Given the description of an element on the screen output the (x, y) to click on. 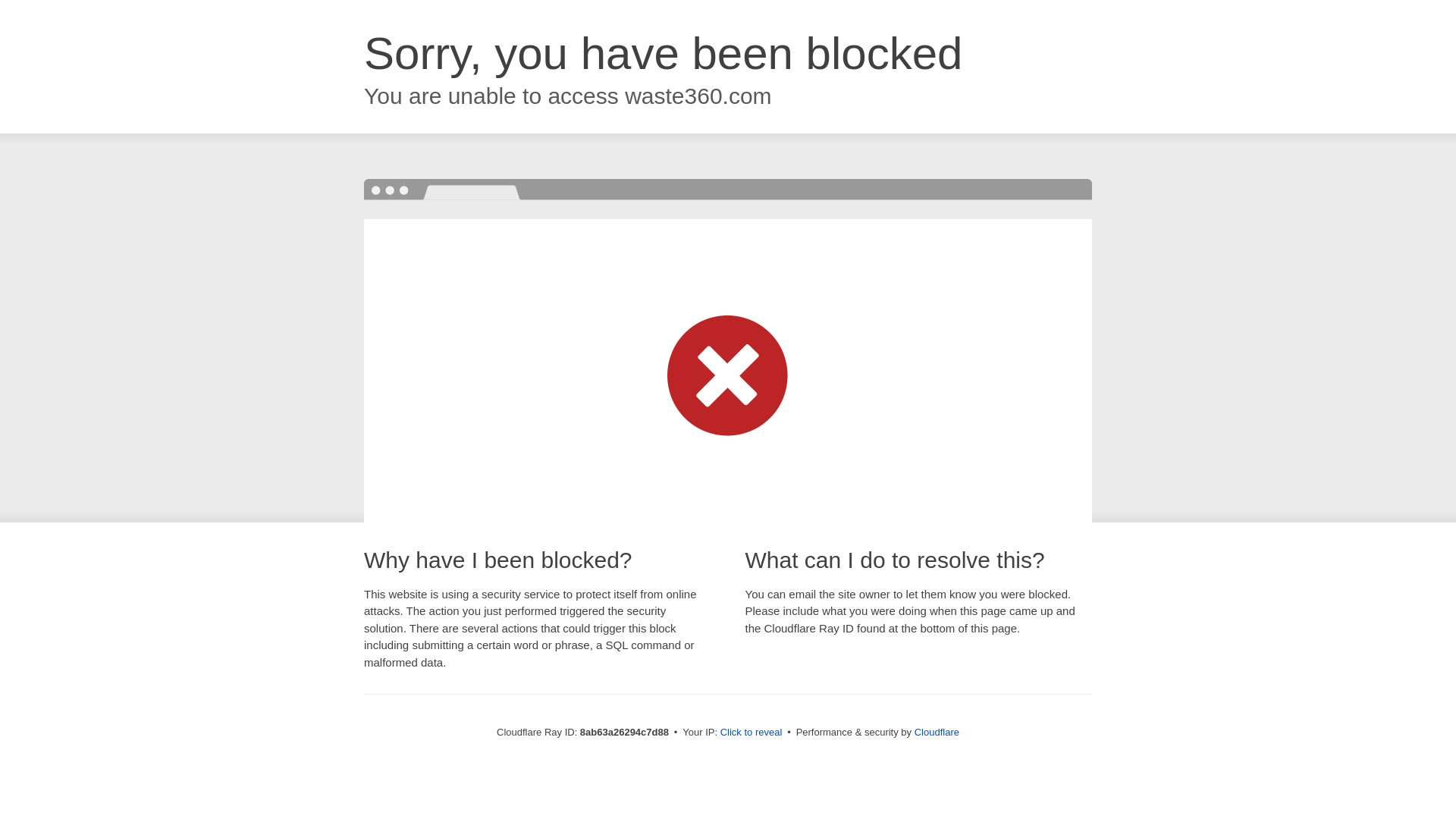
Click to reveal (751, 732)
Cloudflare (936, 731)
